Given the description of an element on the screen output the (x, y) to click on. 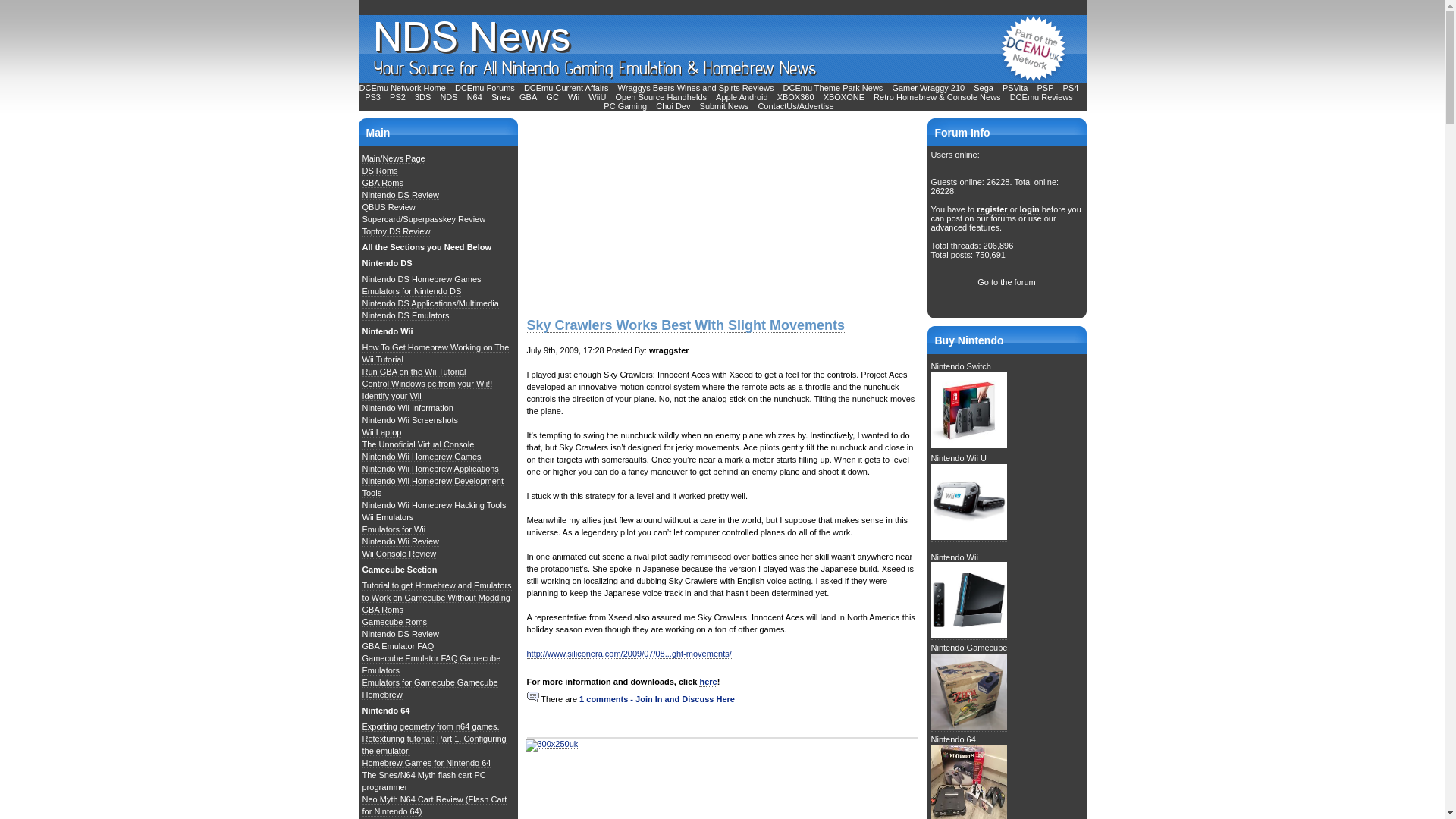
Nintendo DS Homebrew Games (421, 279)
Apple Android (742, 97)
NDS (448, 97)
3DS (422, 97)
Sega (983, 88)
XBOXONE (844, 97)
Submit News (724, 106)
QBUS Review (388, 207)
DCEmu Network Home (402, 88)
N64 (474, 97)
